Given the description of an element on the screen output the (x, y) to click on. 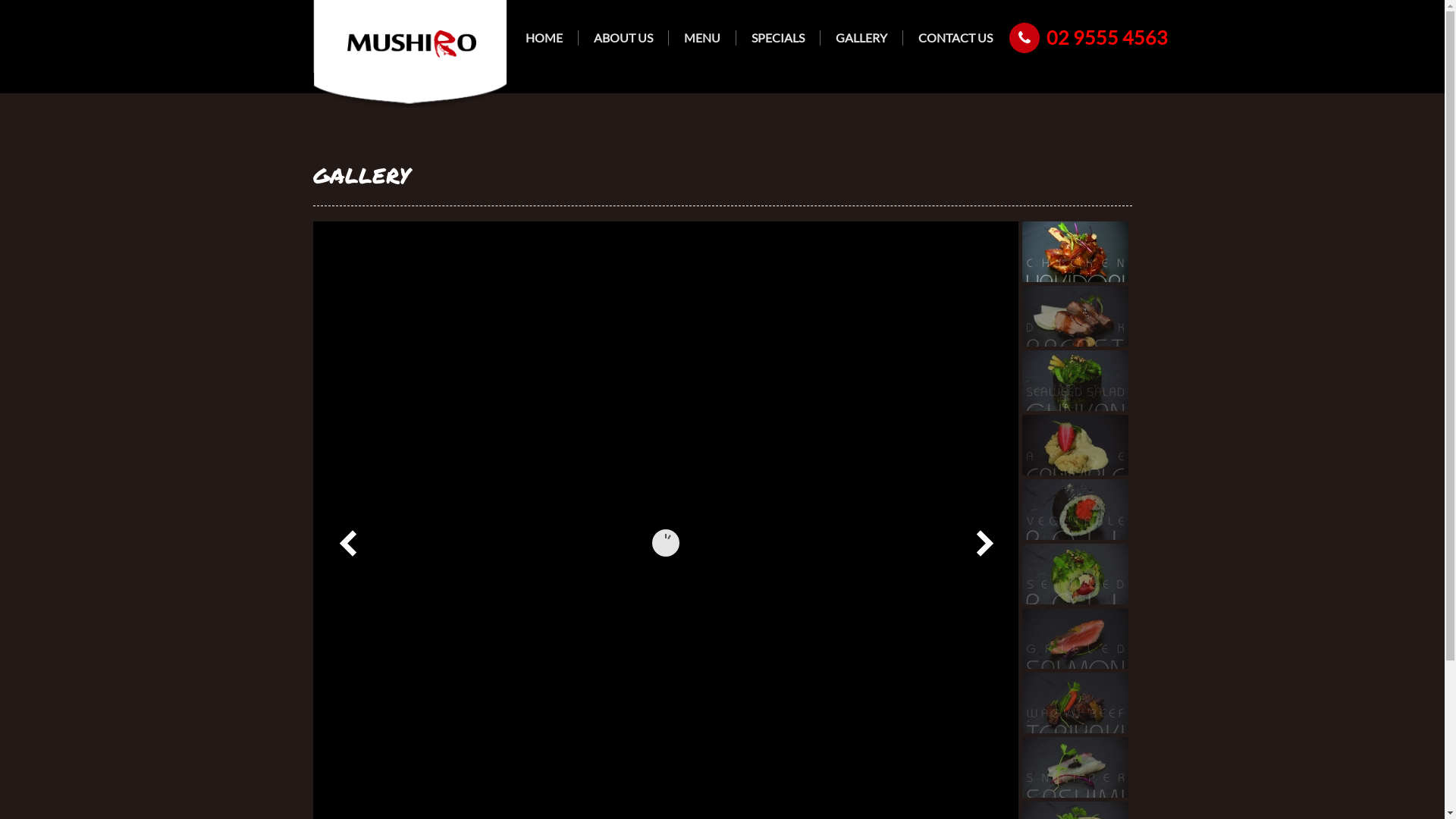
MENU Element type: text (701, 37)
HOME Element type: text (543, 37)
ABOUT US Element type: text (622, 37)
CONTACT US Element type: text (954, 37)
SPECIALS Element type: text (777, 37)
GALLERY Element type: text (861, 37)
